Given the description of an element on the screen output the (x, y) to click on. 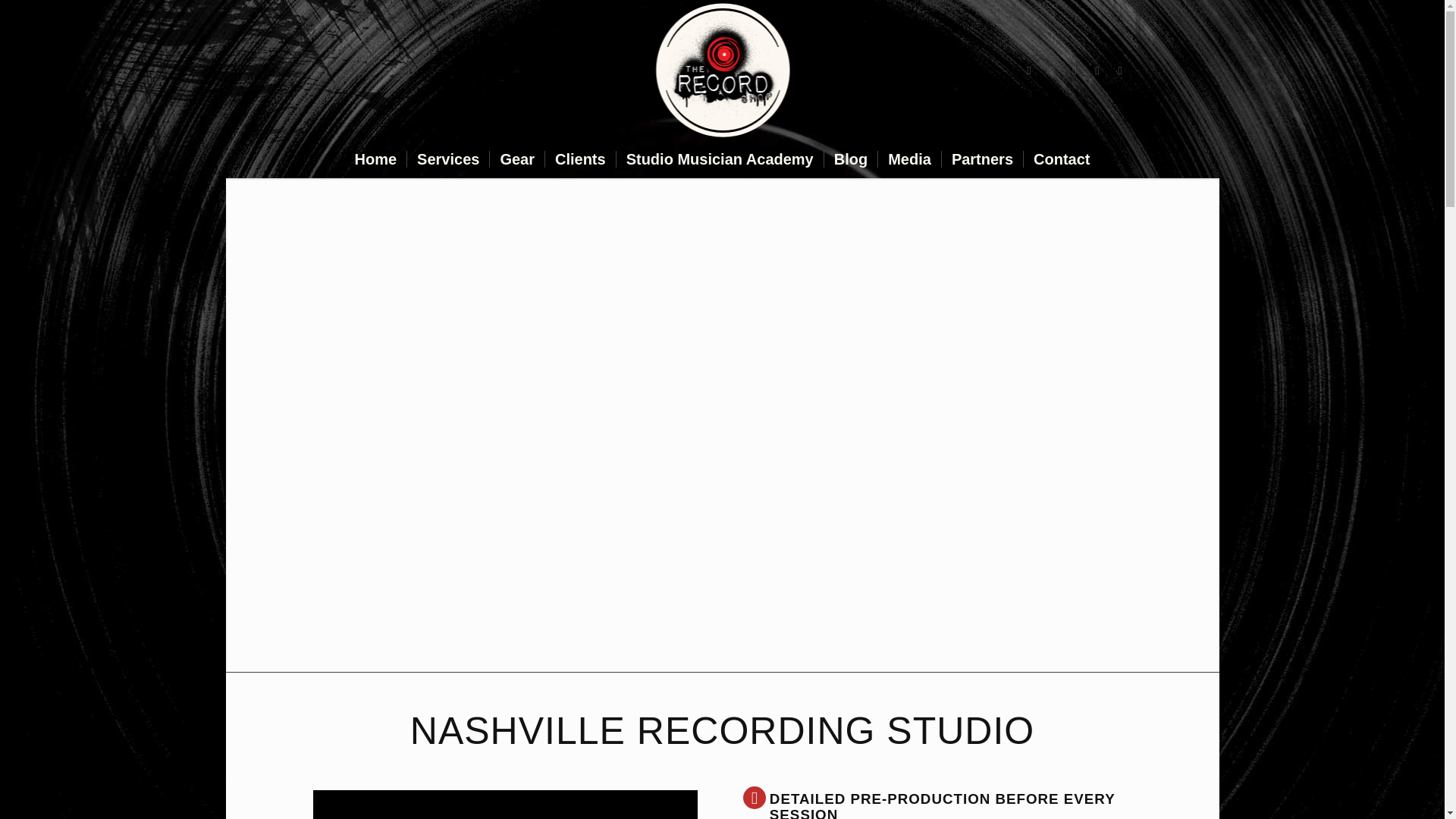
Blog (850, 159)
Services (447, 159)
Studio Musician Academy (719, 159)
Media (908, 159)
Home (374, 159)
Gear (516, 159)
Clients (579, 159)
